Given the description of an element on the screen output the (x, y) to click on. 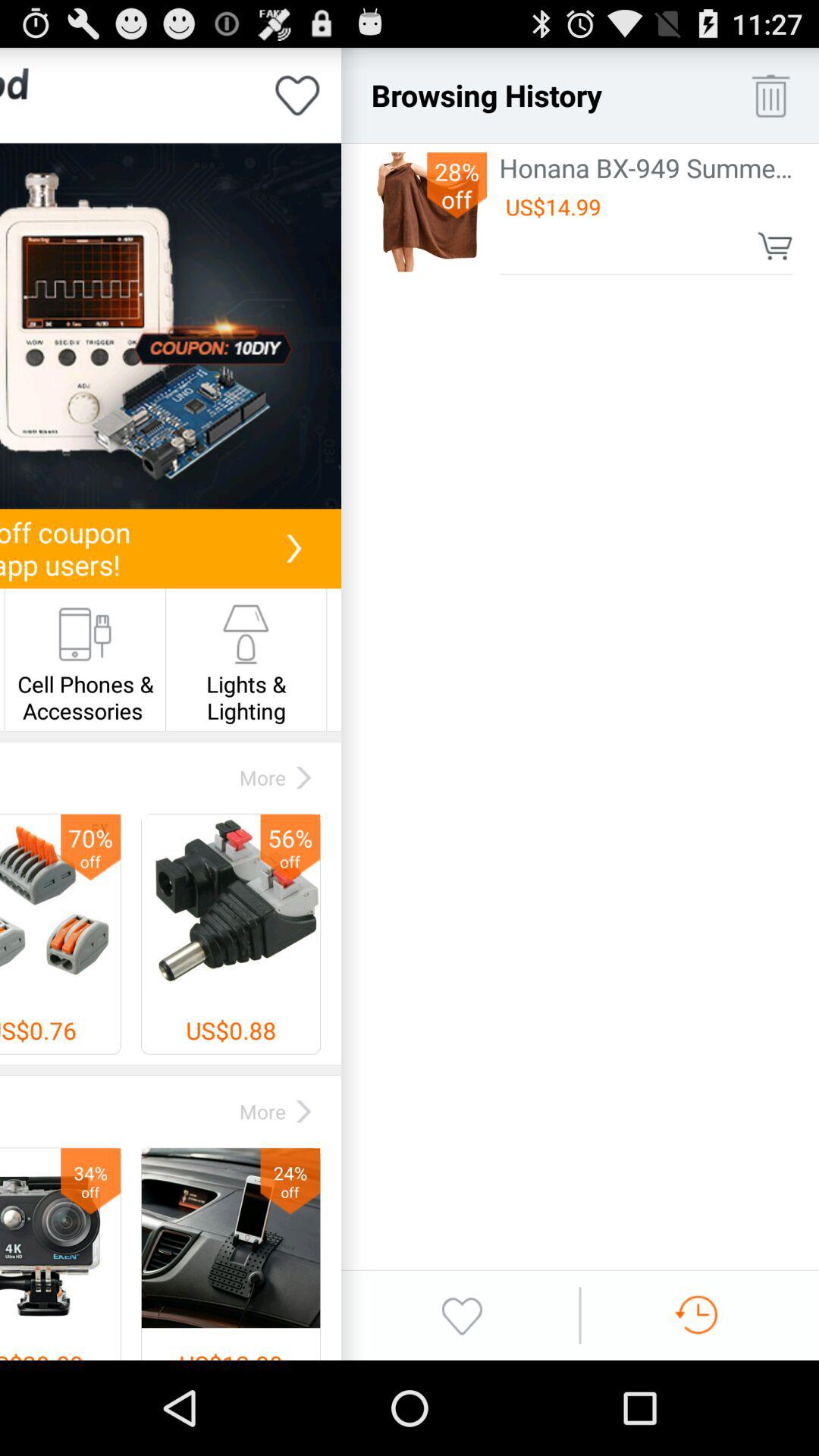
view the coupon (170, 326)
